Given the description of an element on the screen output the (x, y) to click on. 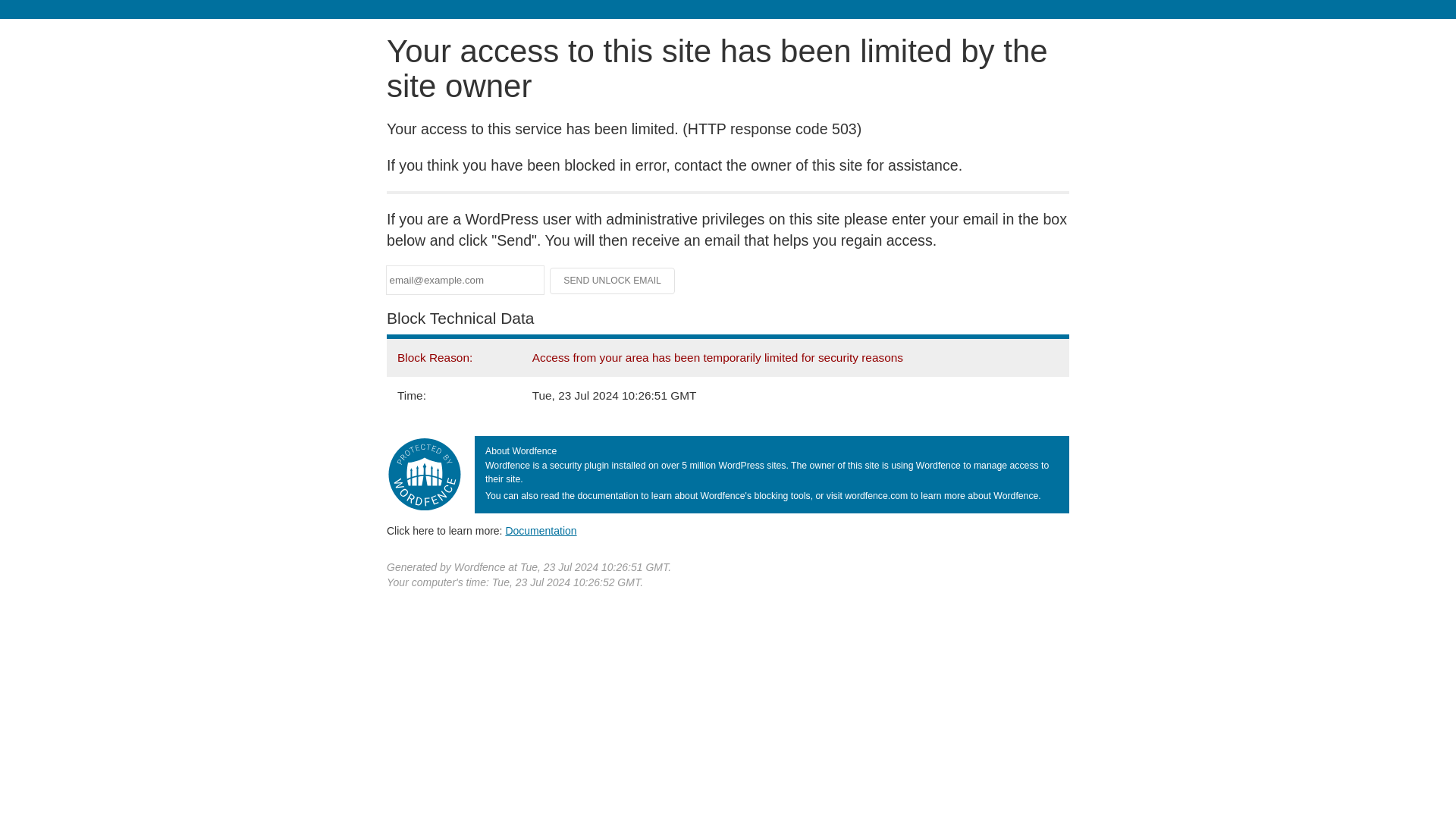
Send Unlock Email (612, 280)
Send Unlock Email (612, 280)
